Given the description of an element on the screen output the (x, y) to click on. 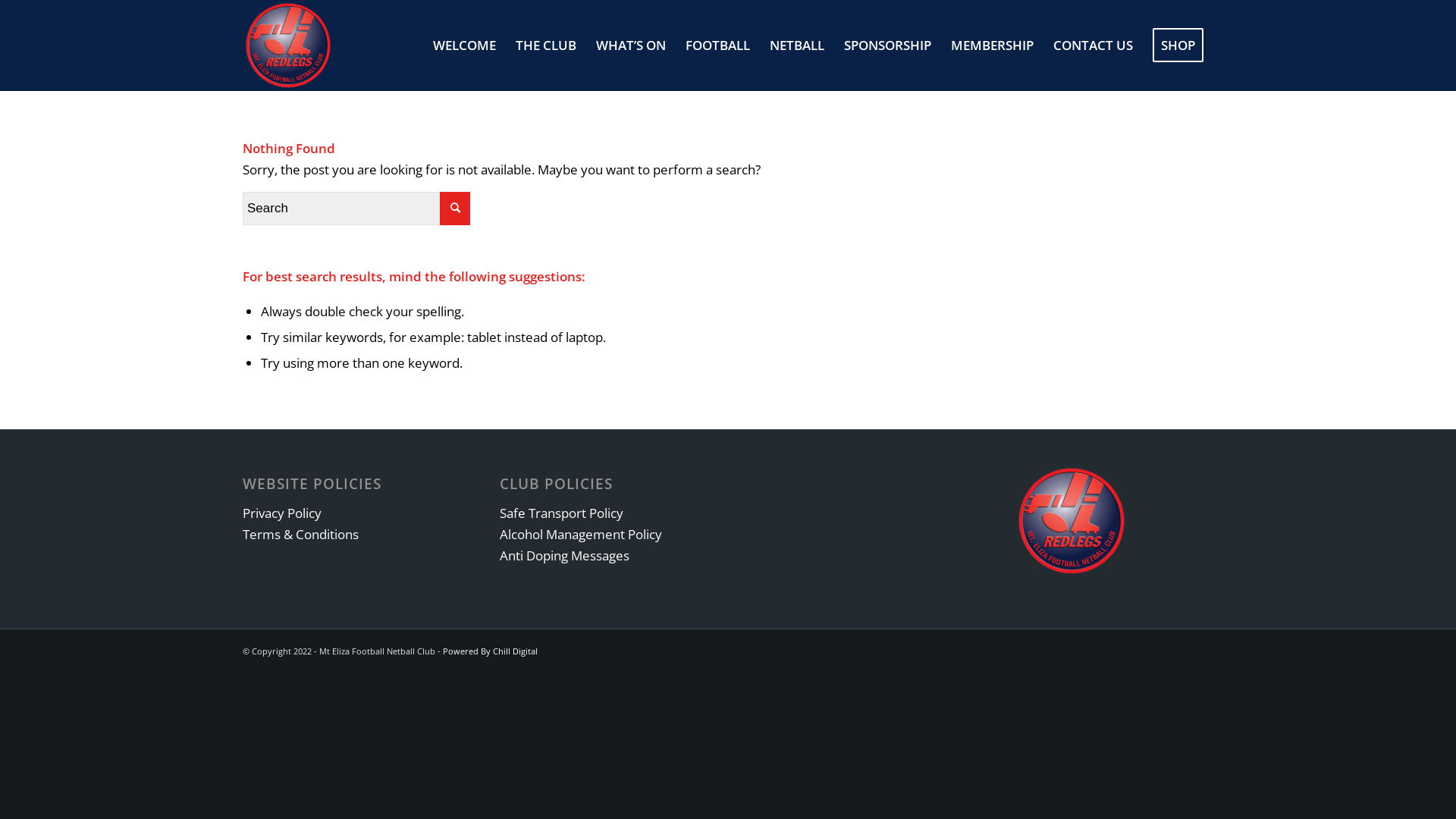
Powered By Chill Digital Element type: text (489, 650)
Alcohol Management Policy Element type: text (580, 533)
WELCOME Element type: text (464, 45)
Terms & Conditions Element type: text (300, 533)
Anti Doping Messages Element type: text (564, 555)
FOOTBALL Element type: text (717, 45)
NETBALL Element type: text (796, 45)
SHOP Element type: text (1177, 45)
Safe Transport Policy Element type: text (561, 512)
MEMBERSHIP Element type: text (992, 45)
Privacy Policy Element type: text (281, 512)
SPONSORSHIP Element type: text (887, 45)
THE CLUB Element type: text (545, 45)
CONTACT US Element type: text (1092, 45)
